Given the description of an element on the screen output the (x, y) to click on. 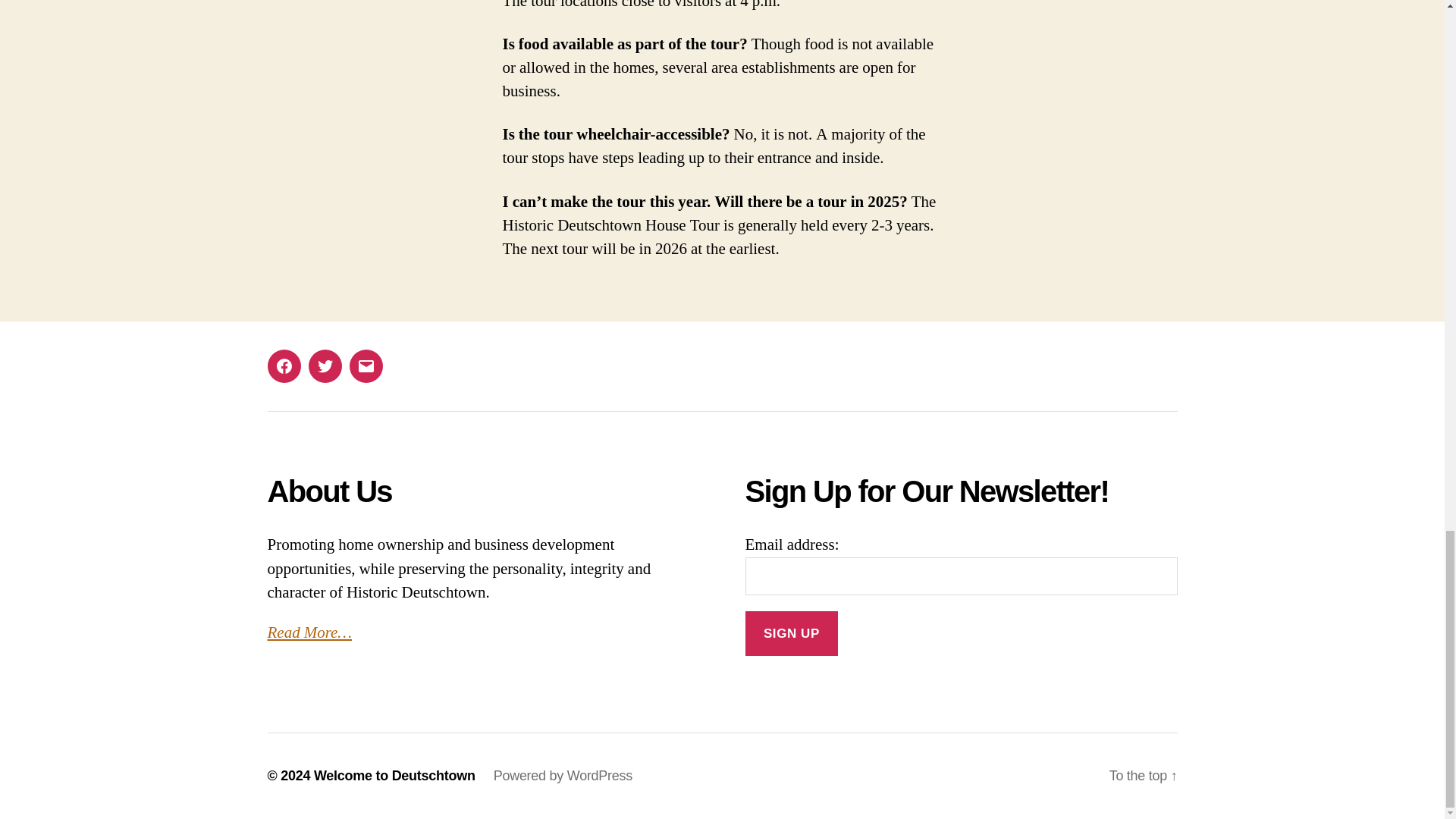
Sign up (791, 633)
